Given the description of an element on the screen output the (x, y) to click on. 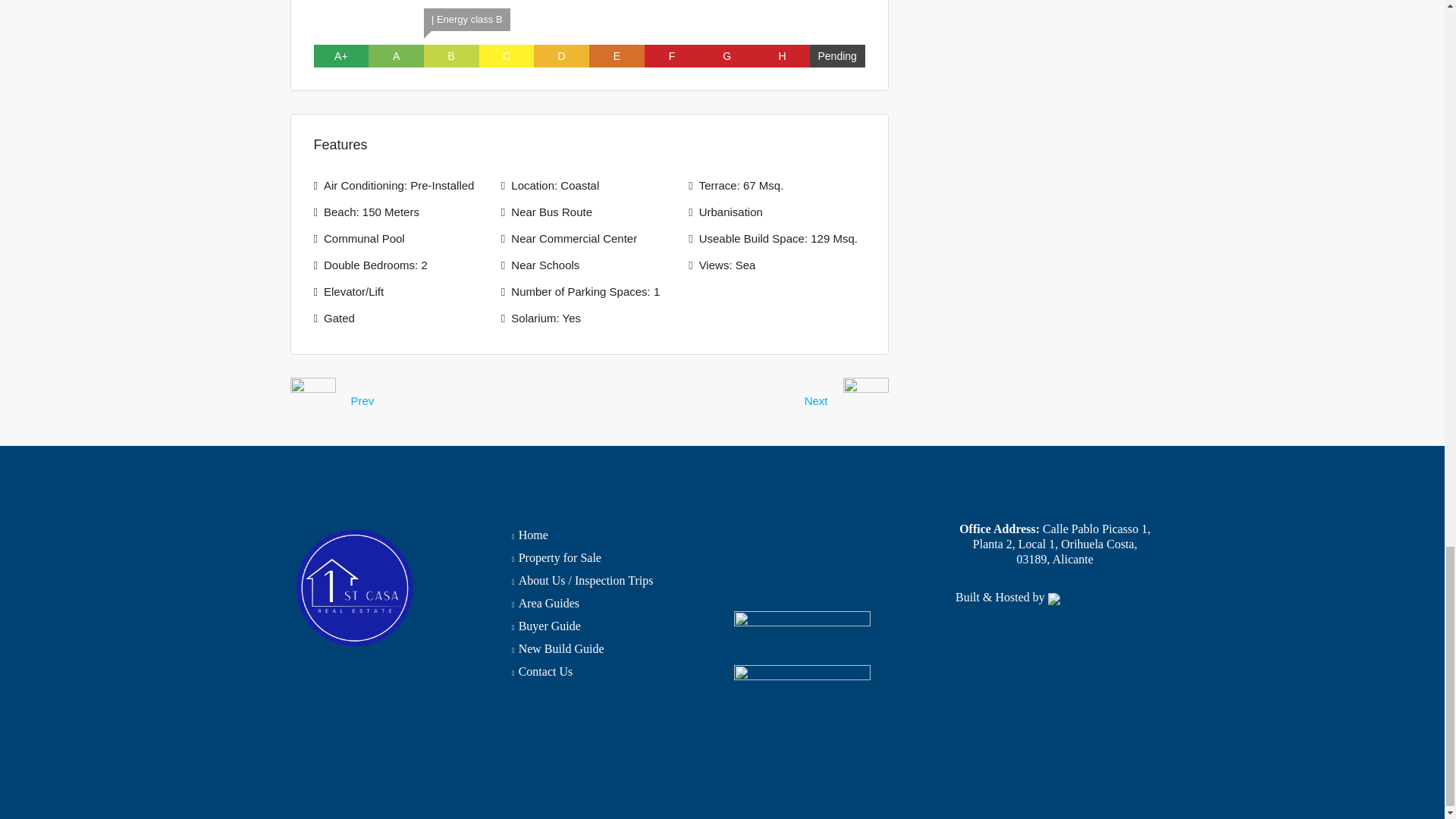
Double Bedrooms: 2 (375, 264)
Communal Pool (363, 237)
Air Conditioning: Pre-Installed (398, 185)
Beach: 150 Meters (371, 211)
